Given the description of an element on the screen output the (x, y) to click on. 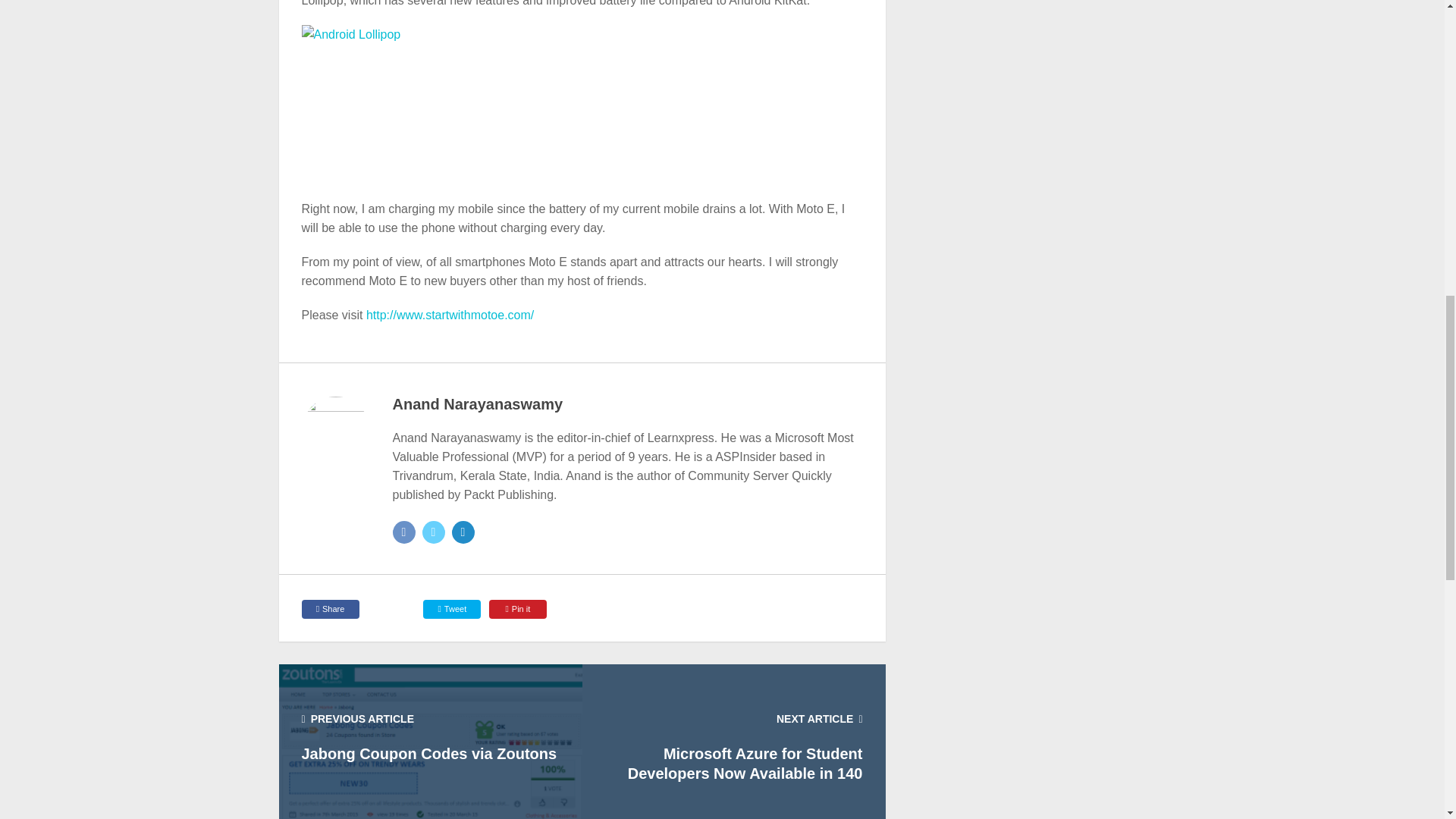
Share (330, 609)
Pin it (518, 609)
Anand Narayanaswamy (478, 403)
Tweet (451, 609)
